Given the description of an element on the screen output the (x, y) to click on. 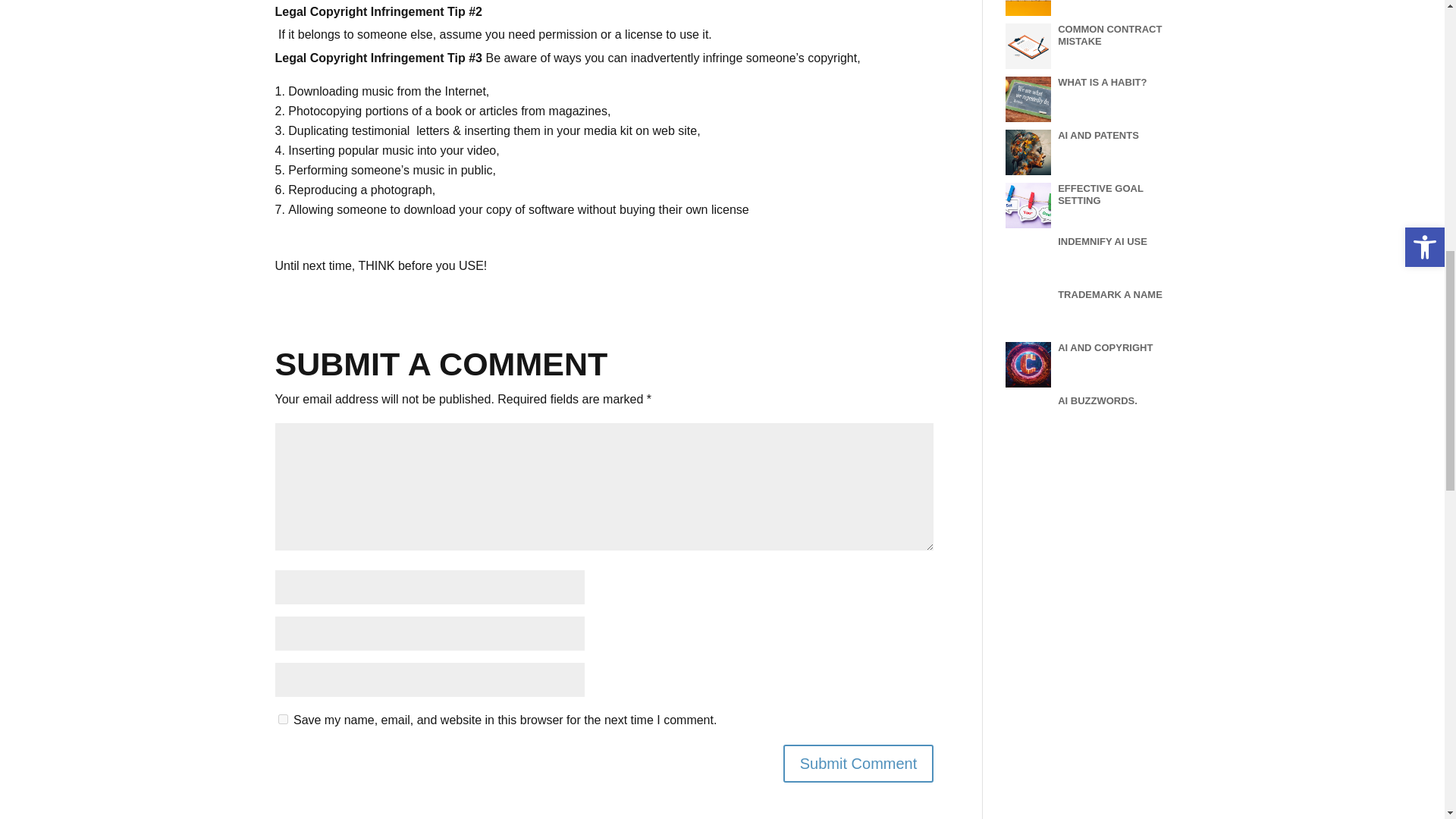
Submit Comment (858, 763)
yes (282, 718)
Submit Comment (858, 763)
WHAT IS A HABIT? (1102, 81)
COMMON CONTRACT MISTAKE (1109, 34)
